Given the description of an element on the screen output the (x, y) to click on. 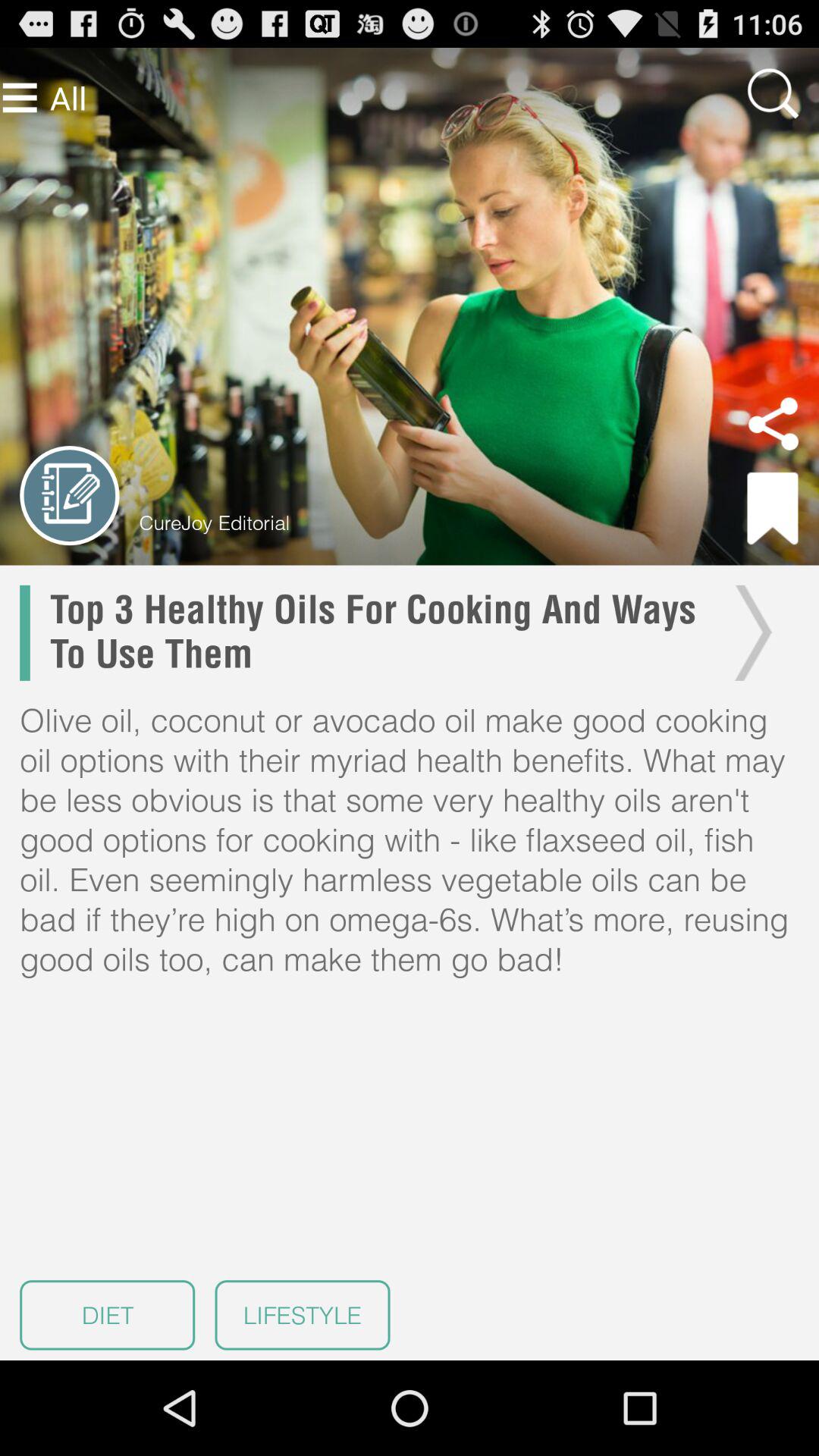
bookmark (773, 508)
